Given the description of an element on the screen output the (x, y) to click on. 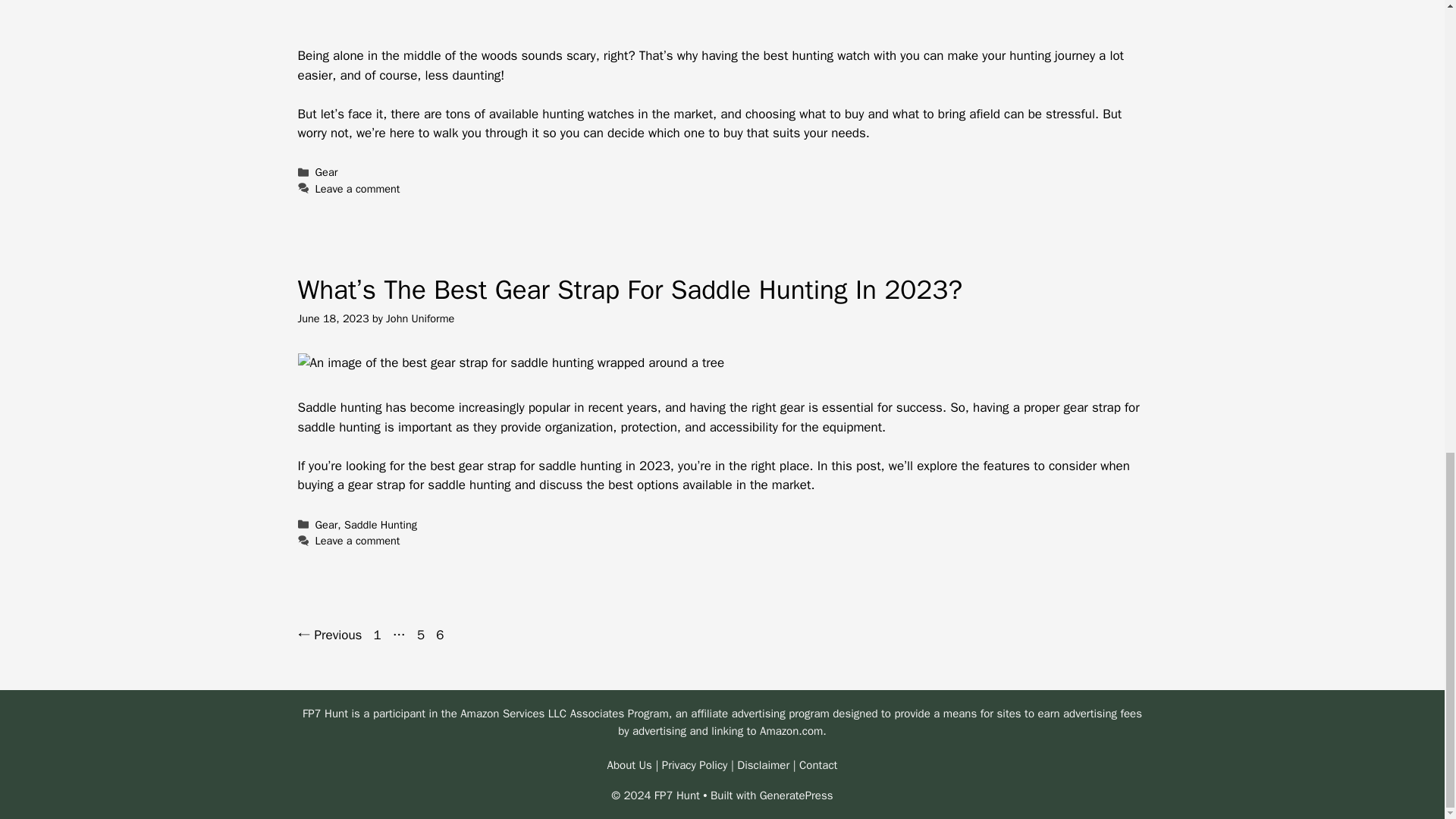
Leave a comment (357, 188)
Gear (326, 524)
View all posts by John Uniforme (419, 318)
John Uniforme (419, 318)
Leave a comment (357, 540)
Disclaimer (762, 765)
Privacy Policy (695, 765)
GeneratePress (796, 795)
Saddle Hunting (377, 634)
